Given the description of an element on the screen output the (x, y) to click on. 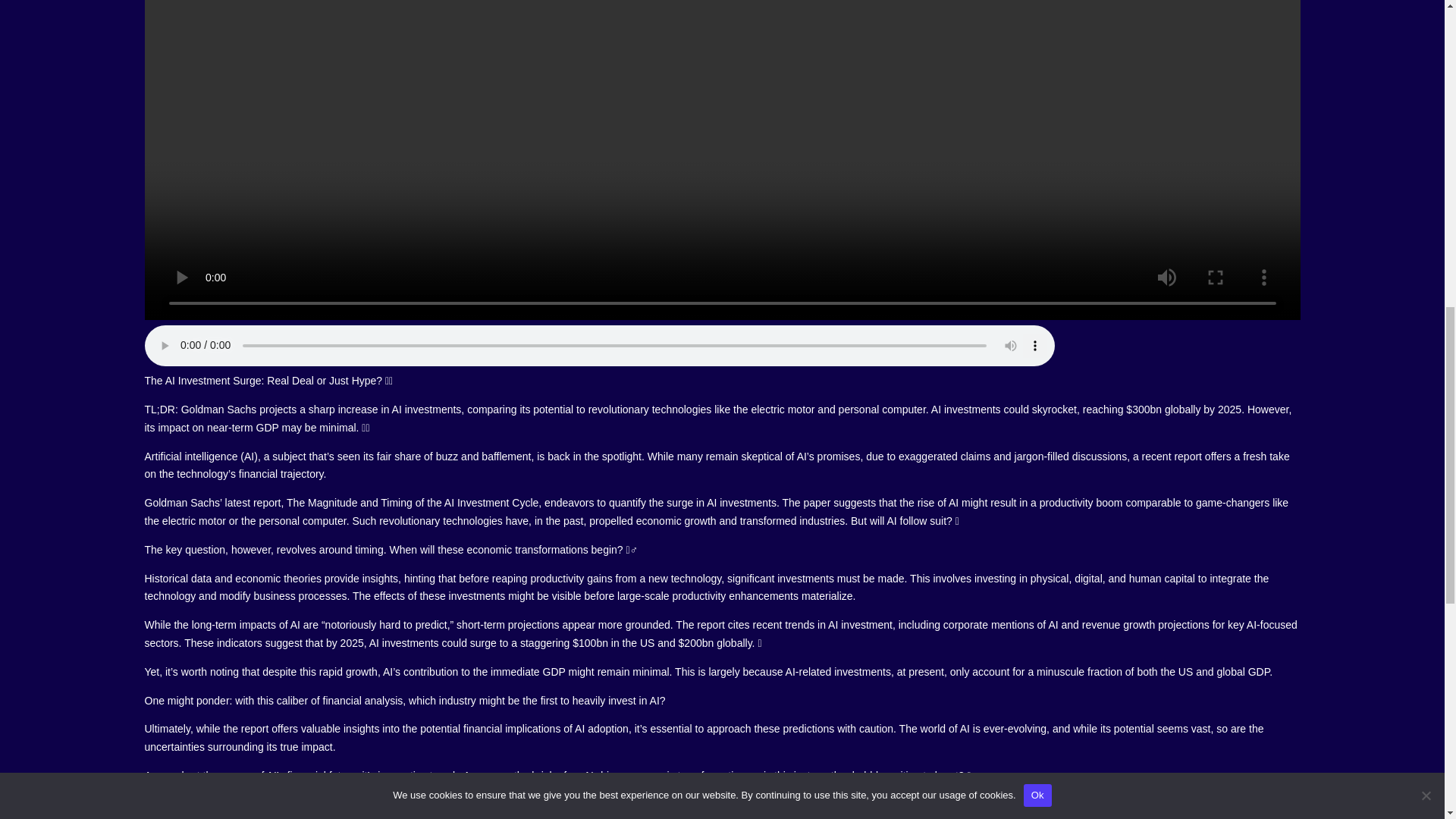
Financial Times. (243, 804)
